Given the description of an element on the screen output the (x, y) to click on. 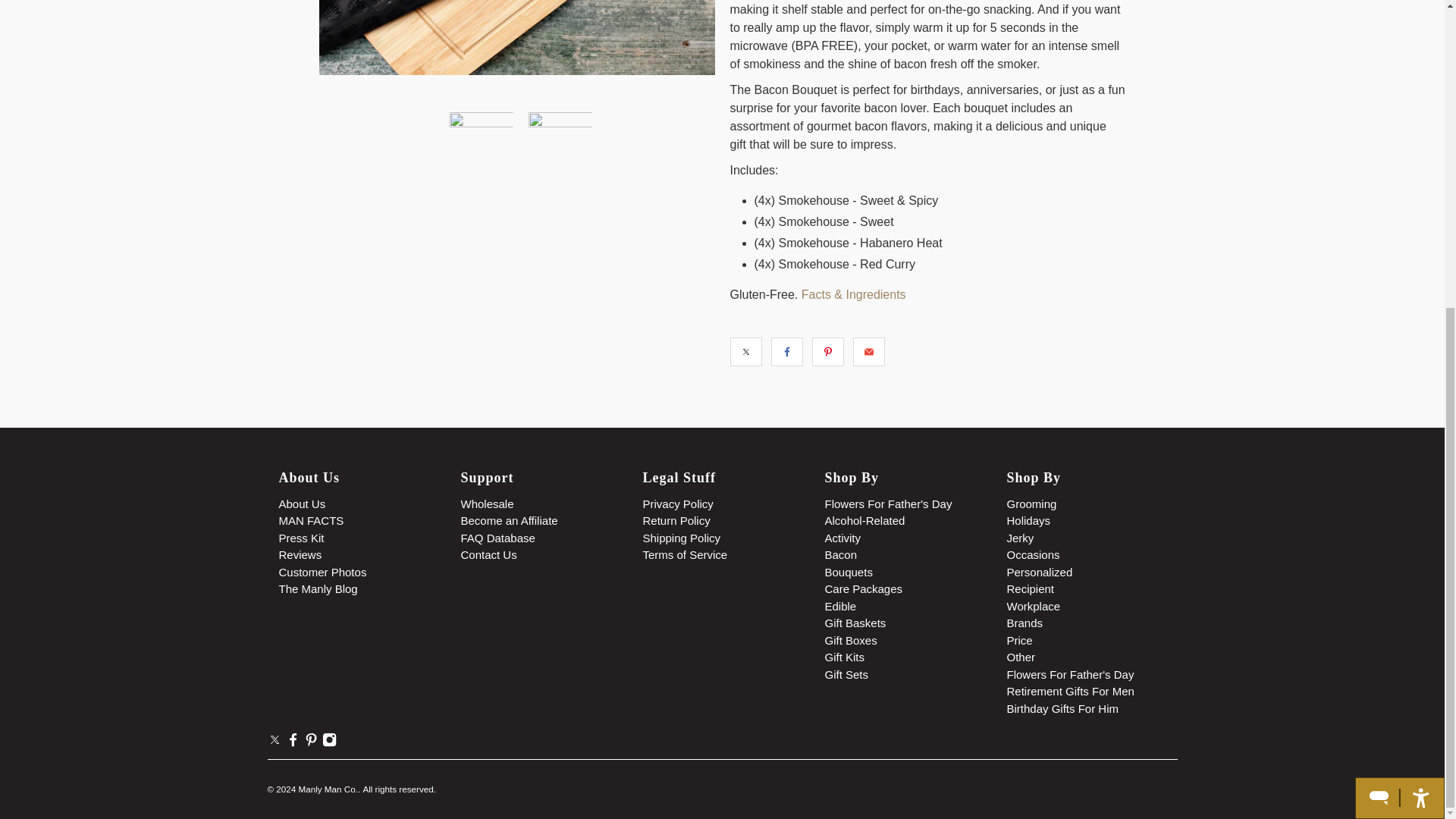
Manly Man Co. on Instagram (328, 743)
Manly Man Co. on Pinterest (311, 743)
Share this on Pinterest (826, 351)
Manly Man Co. on Facebook (292, 743)
Share this on Facebook (786, 351)
Manly Man Co. on Twitter (273, 743)
Email this to a friend (867, 351)
The Bacon Bouquet (516, 38)
Share this on Twitter (745, 351)
